Given the description of an element on the screen output the (x, y) to click on. 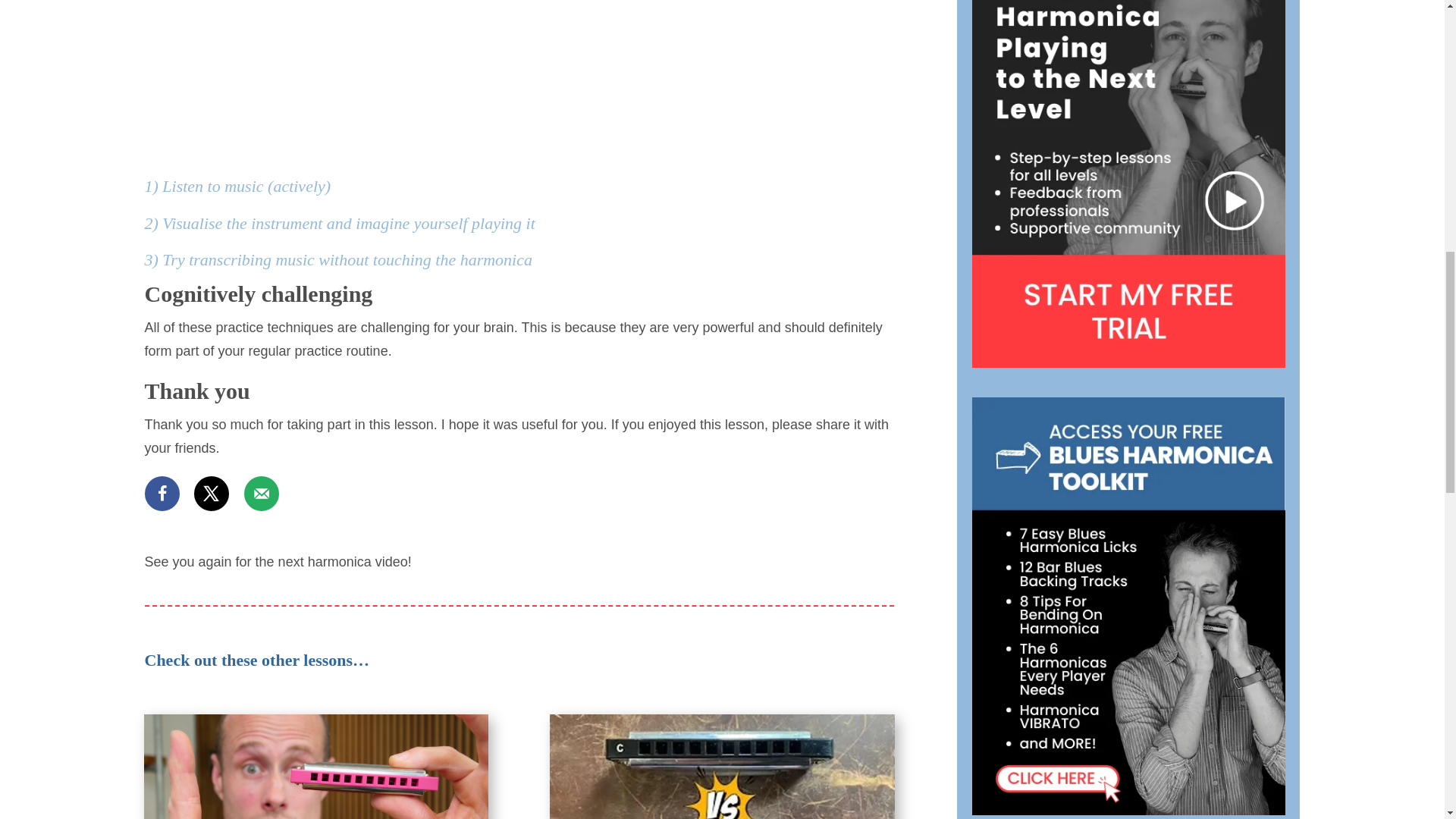
harmonica school free trial (1128, 184)
3 Tips For Practicing Away from The Harmonica (518, 77)
Free Blues Harmonica Toolkit (1128, 606)
Share on Facebook (161, 493)
Send over email (261, 493)
Share on X (210, 493)
